Given the description of an element on the screen output the (x, y) to click on. 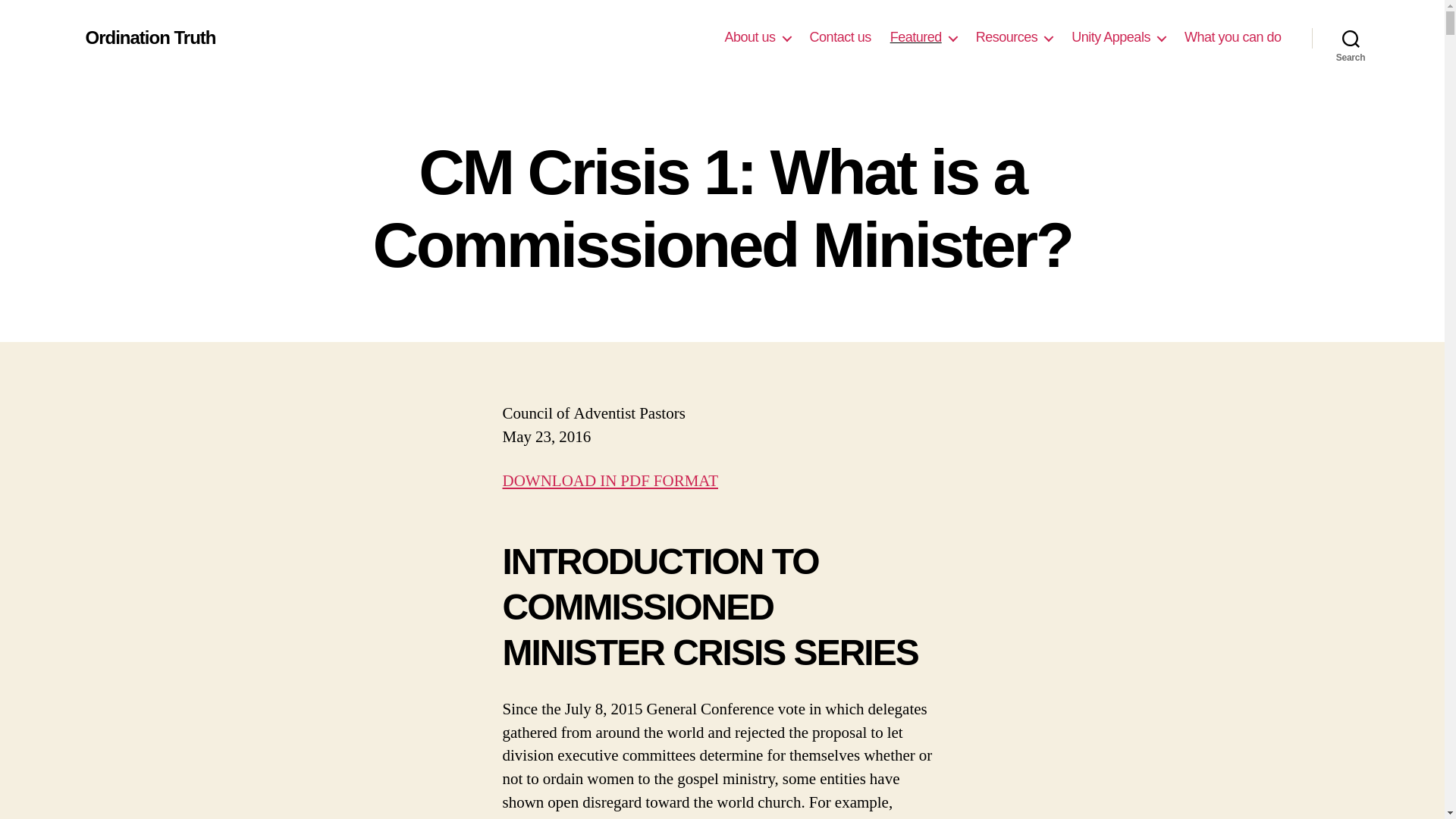
Featured (922, 37)
Ordination Truth (149, 37)
Contact us (839, 37)
About us (757, 37)
